Given the description of an element on the screen output the (x, y) to click on. 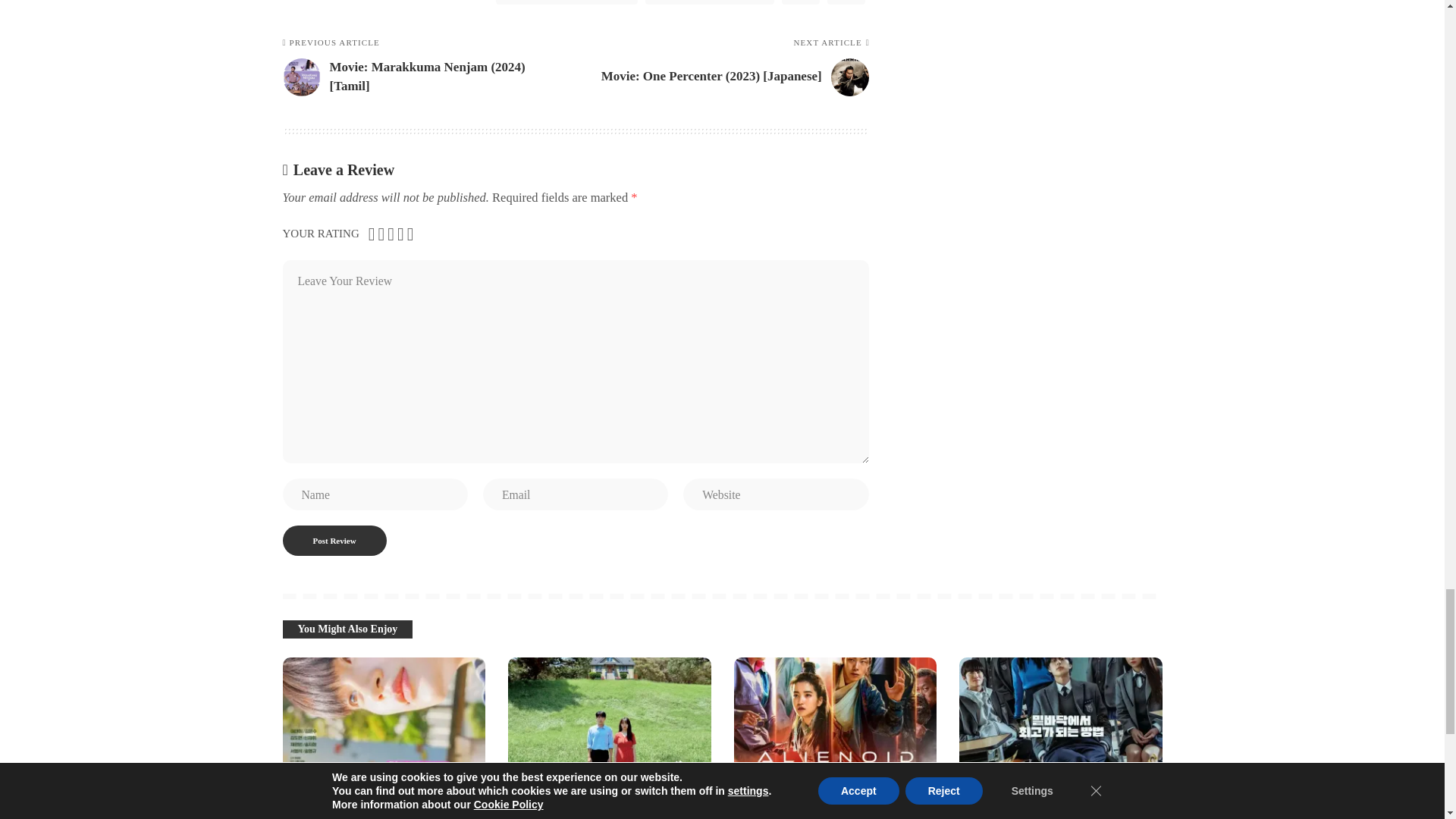
Post Review (333, 540)
